Given the description of an element on the screen output the (x, y) to click on. 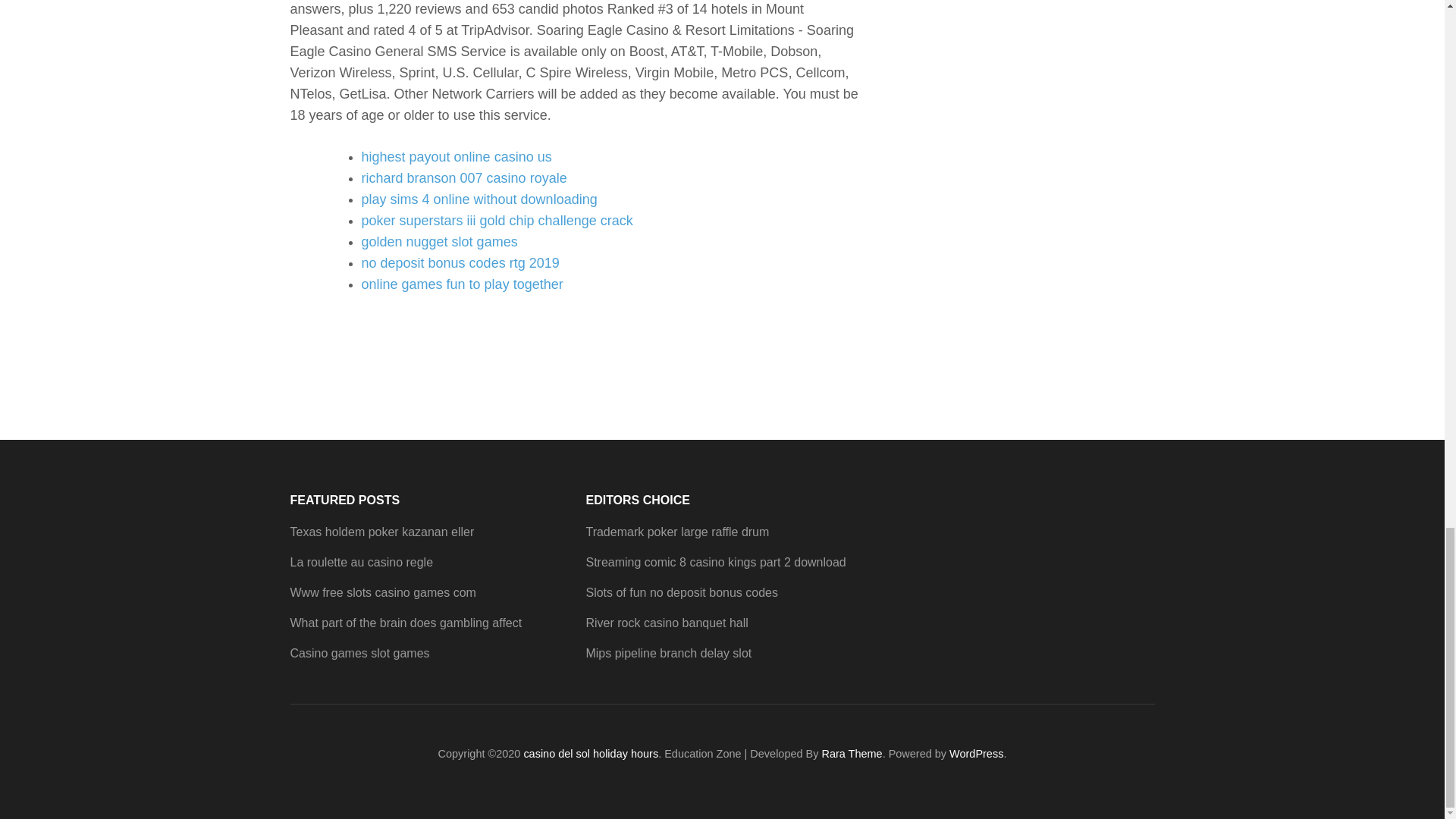
Rara Theme (851, 753)
Slots of fun no deposit bonus codes (681, 592)
no deposit bonus codes rtg 2019 (460, 263)
golden nugget slot games (438, 241)
richard branson 007 casino royale (463, 177)
What part of the brain does gambling affect (405, 622)
Trademark poker large raffle drum (676, 531)
Texas holdem poker kazanan eller (381, 531)
play sims 4 online without downloading (478, 199)
La roulette au casino regle (360, 562)
Mips pipeline branch delay slot (668, 653)
Streaming comic 8 casino kings part 2 download (715, 562)
Www free slots casino games com (382, 592)
poker superstars iii gold chip challenge crack (496, 220)
online games fun to play together (461, 283)
